Given the description of an element on the screen output the (x, y) to click on. 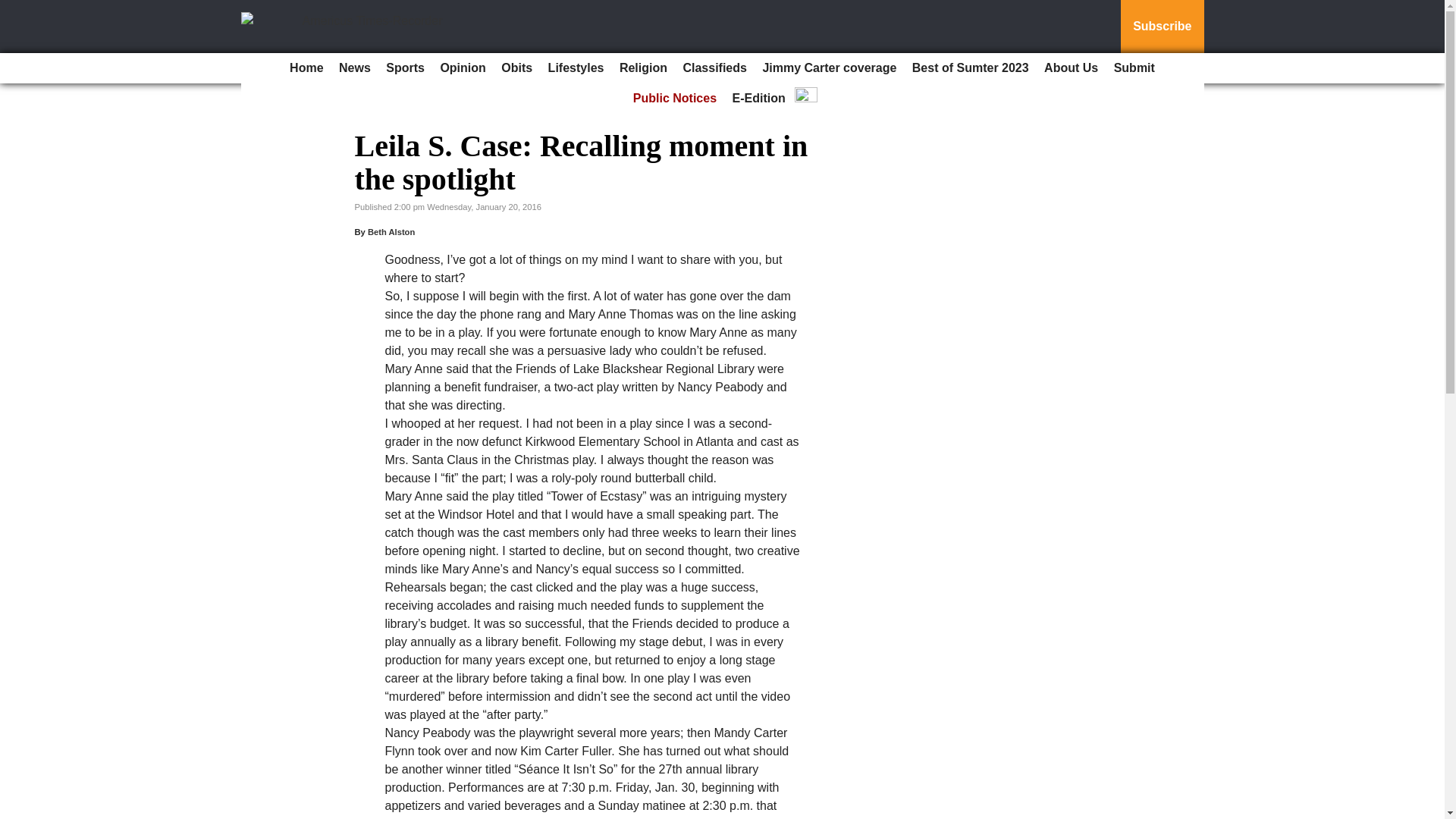
Religion (642, 68)
Beth Alston (391, 231)
News (355, 68)
About Us (1070, 68)
Obits (516, 68)
Classifieds (714, 68)
E-Edition (759, 98)
Lifestyles (575, 68)
Subscribe (1162, 26)
Home (306, 68)
